Given the description of an element on the screen output the (x, y) to click on. 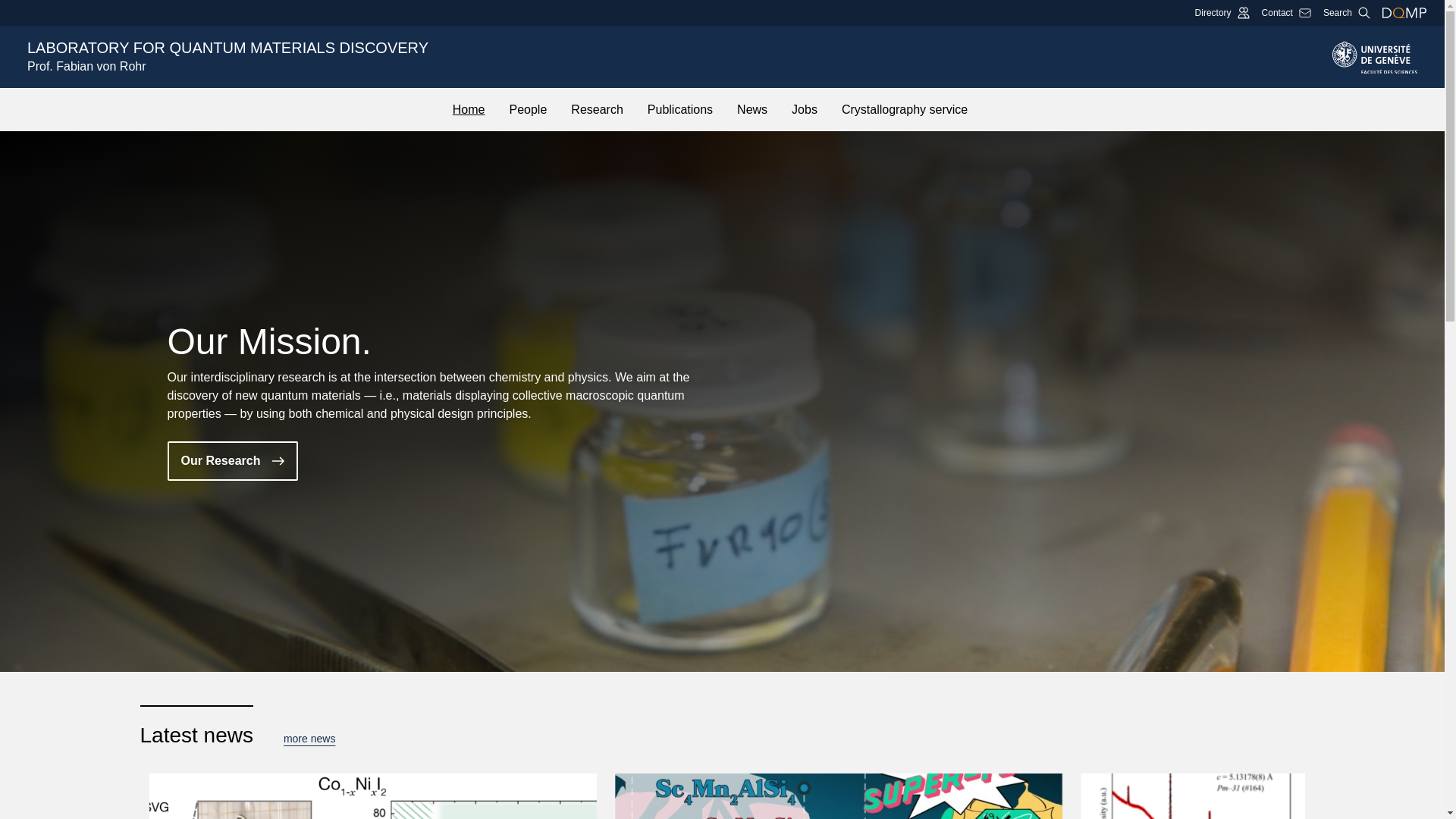
Crystallography service (838, 796)
Research (904, 109)
Contact (596, 109)
Publications (1286, 12)
more news (680, 109)
Directory (308, 738)
Home (1222, 12)
von Rohr Group (468, 109)
Jobs (670, 56)
Search (804, 109)
News (1346, 12)
People (751, 109)
